Given the description of an element on the screen output the (x, y) to click on. 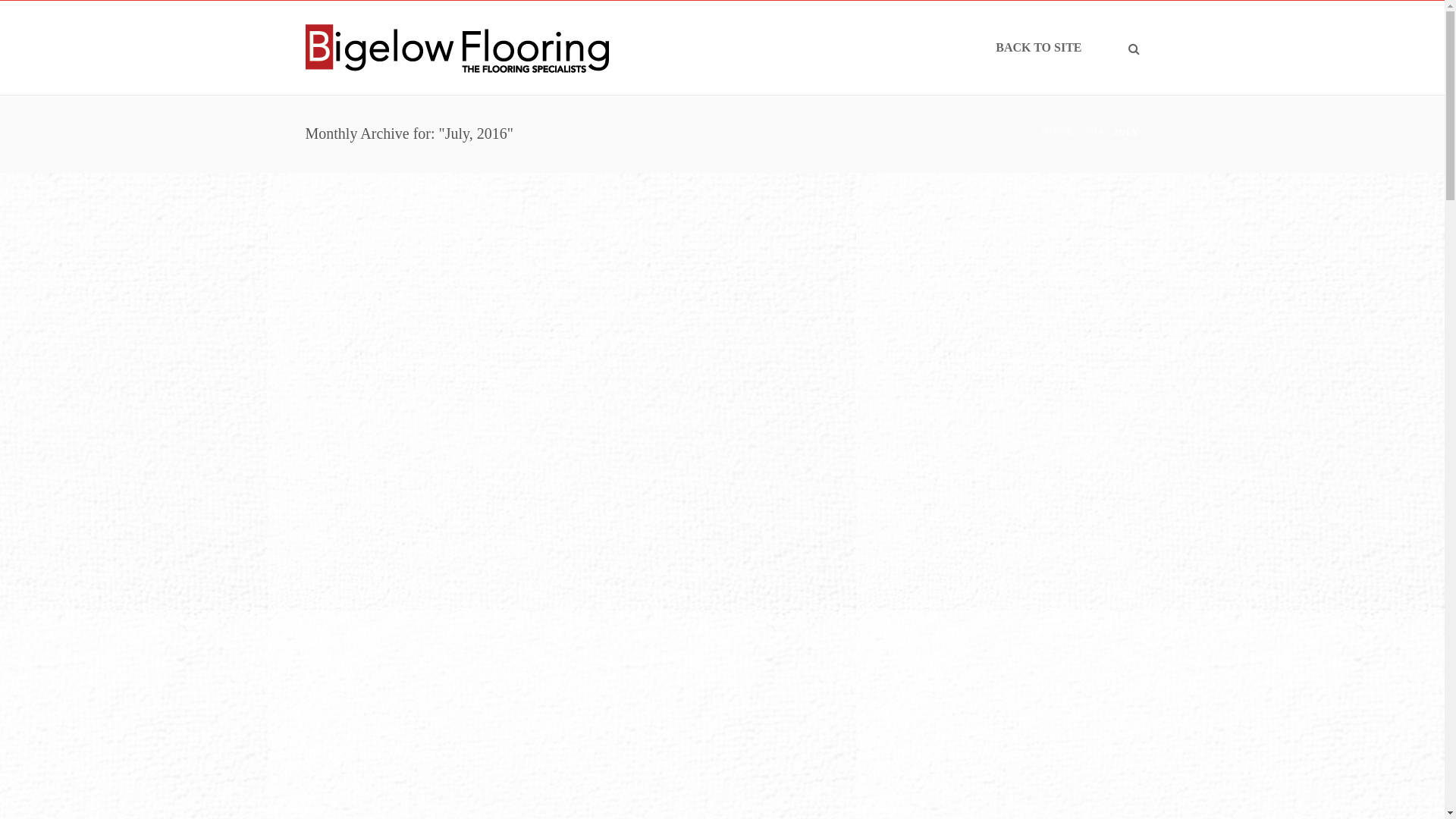
HOME Element type: text (1057, 131)
BACK TO SITE Element type: text (1038, 47)
Bigelow Flooring - Guelph, Ontario Element type: hover (456, 46)
2016 Element type: text (1093, 131)
